Given the description of an element on the screen output the (x, y) to click on. 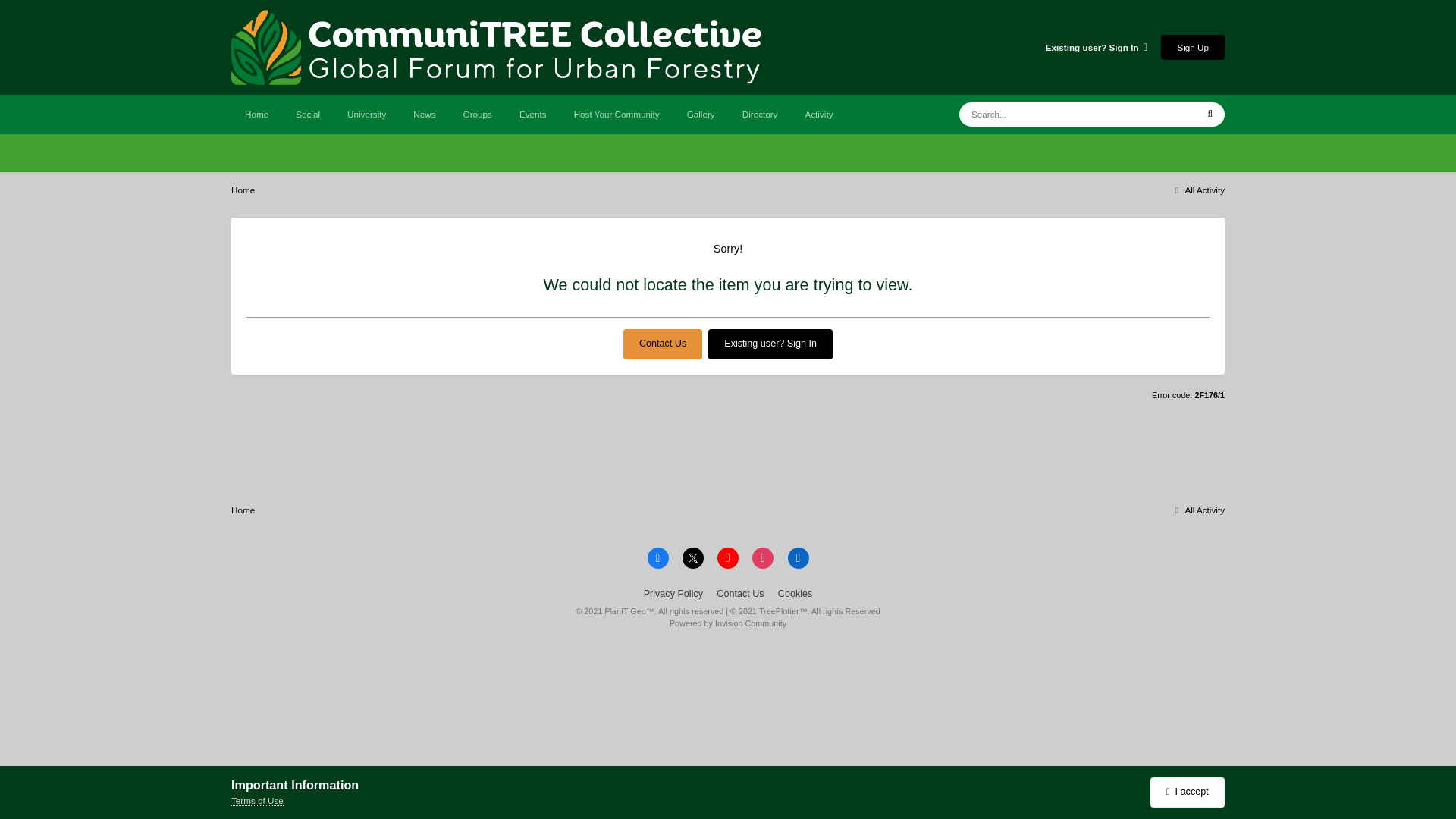
Host Your Community (616, 114)
Sign Up (1192, 47)
Existing user? Sign In   (1096, 47)
Activity (817, 114)
Contact Us (662, 344)
Invision Community (727, 623)
Home (242, 189)
Contact Us (662, 344)
Existing user? Sign In (769, 344)
Home (256, 114)
